Given the description of an element on the screen output the (x, y) to click on. 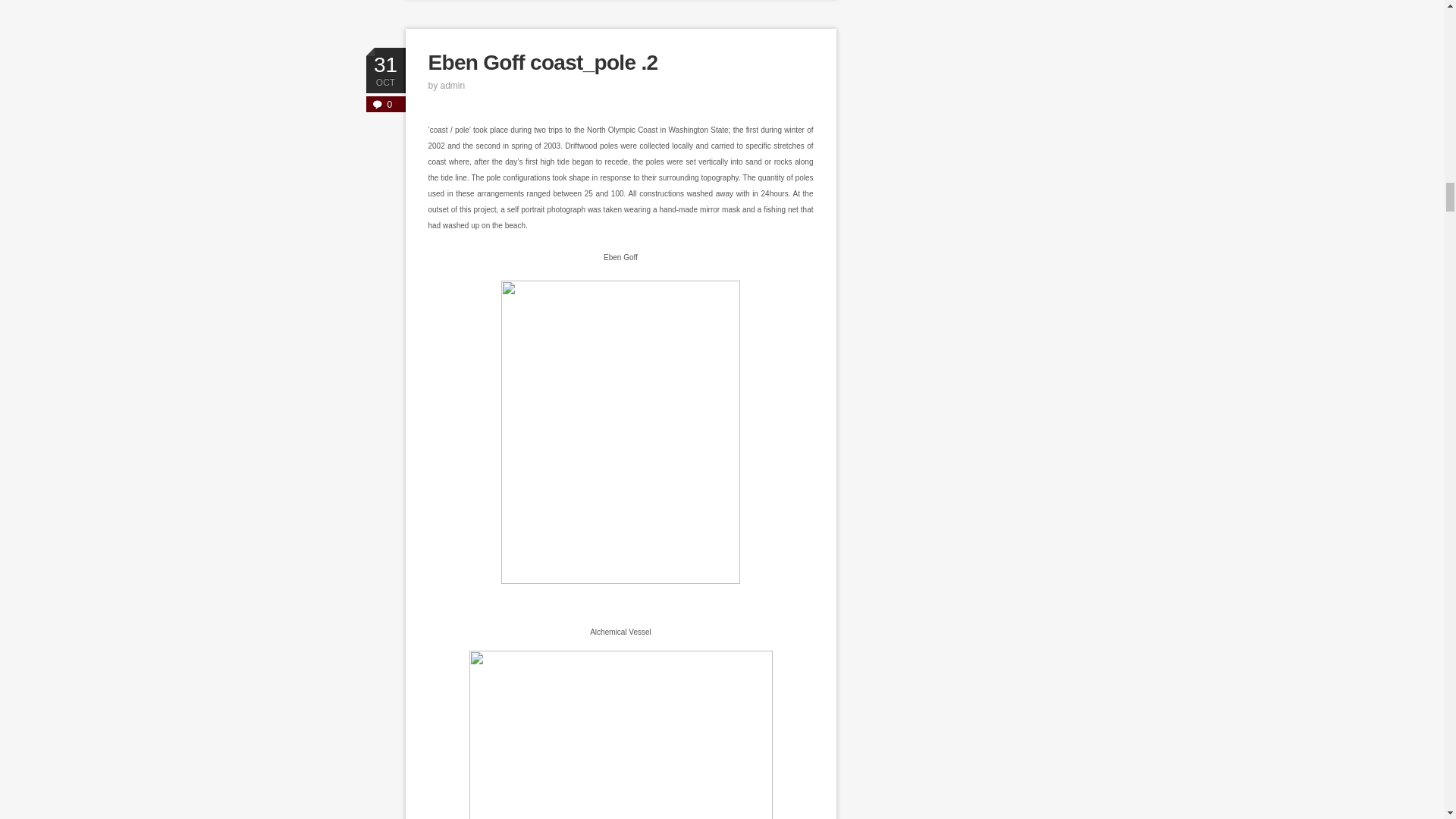
admin (453, 85)
Posts by admin (453, 85)
0 (384, 104)
